Given the description of an element on the screen output the (x, y) to click on. 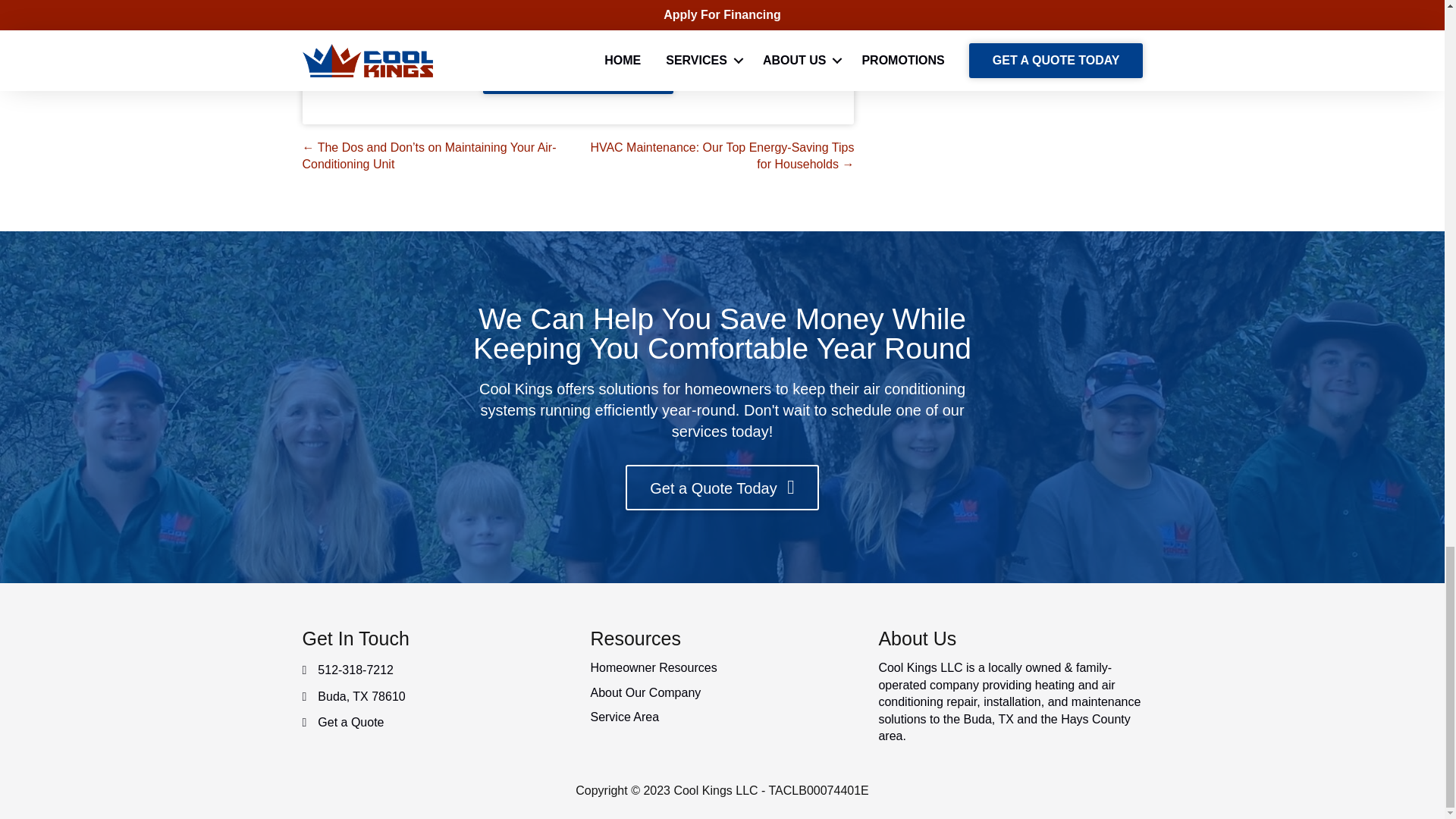
Get a Quote Today (722, 488)
512-318-7212 (355, 669)
About Our Company (644, 692)
Homeowner Resources (652, 667)
Call 512-318-7212 (578, 2)
Service Area (624, 716)
Get a Quote (350, 722)
Get a Quote Today (577, 72)
